Given the description of an element on the screen output the (x, y) to click on. 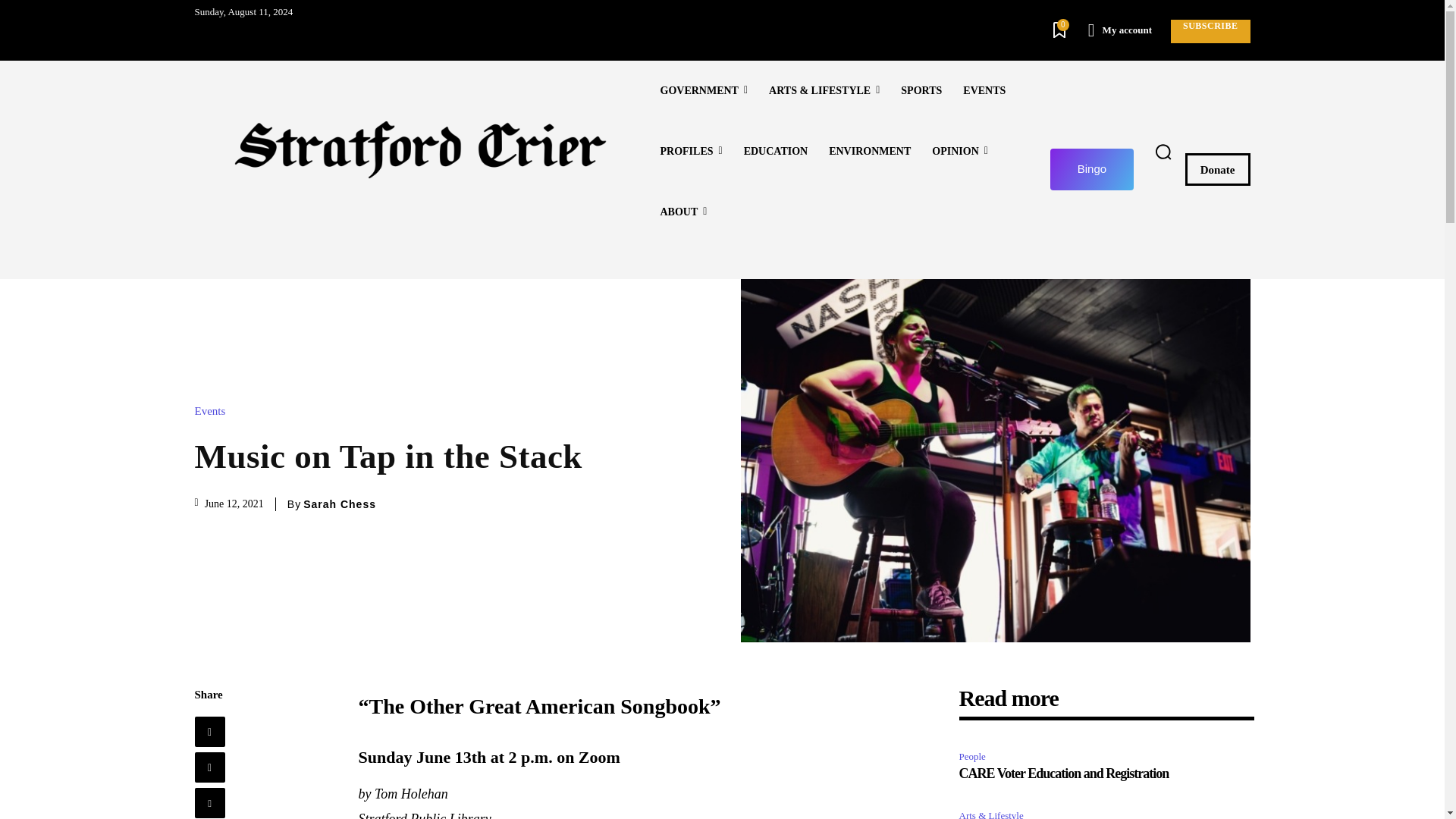
Subscribe (1210, 31)
Bingo (1091, 169)
Donate (1217, 169)
